Given the description of an element on the screen output the (x, y) to click on. 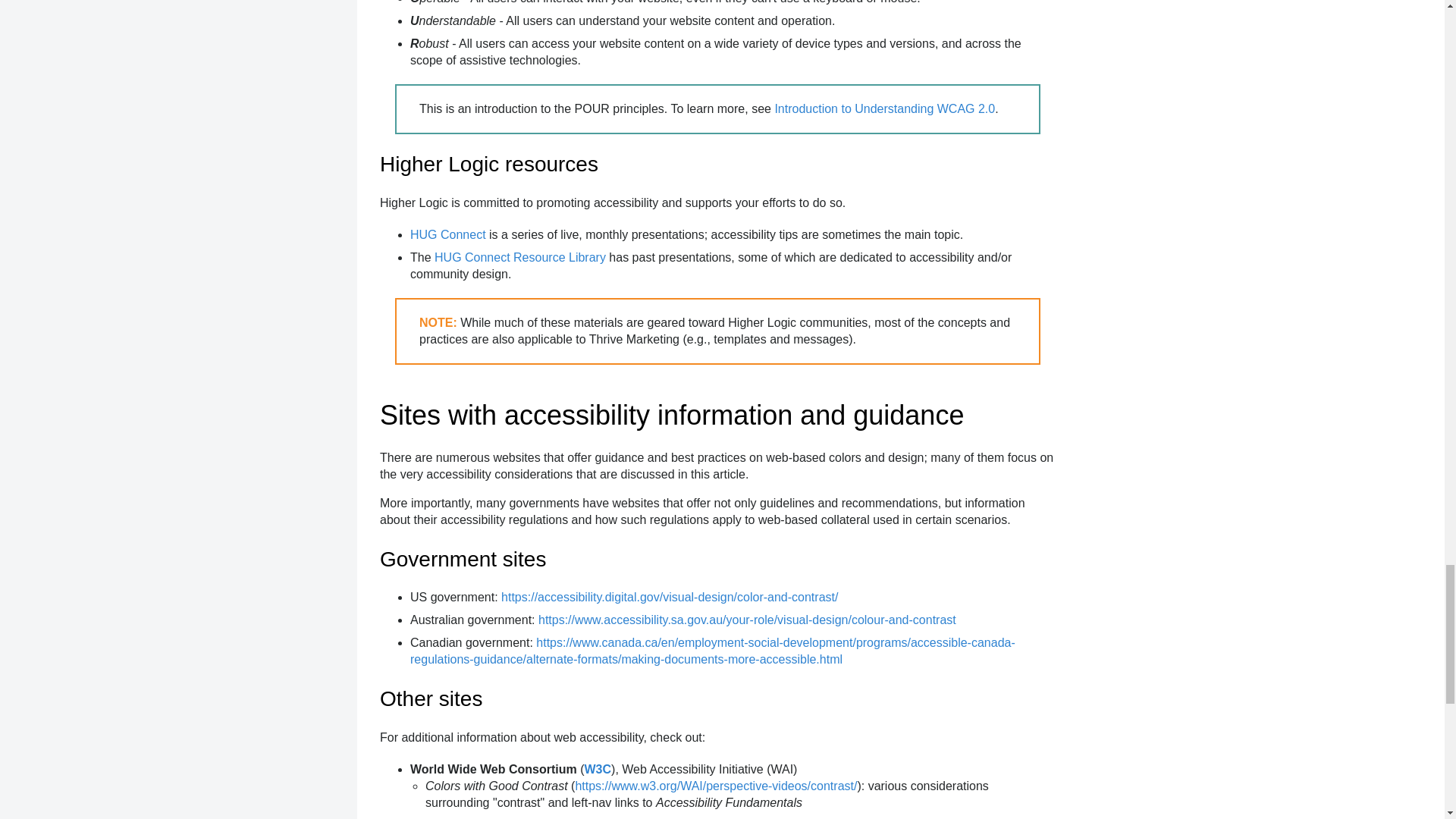
HUG Connect (448, 234)
Introduction to Understanding WCAG 2.0 (884, 108)
W3C (597, 768)
HUG Connect Resource Library (519, 256)
